Given the description of an element on the screen output the (x, y) to click on. 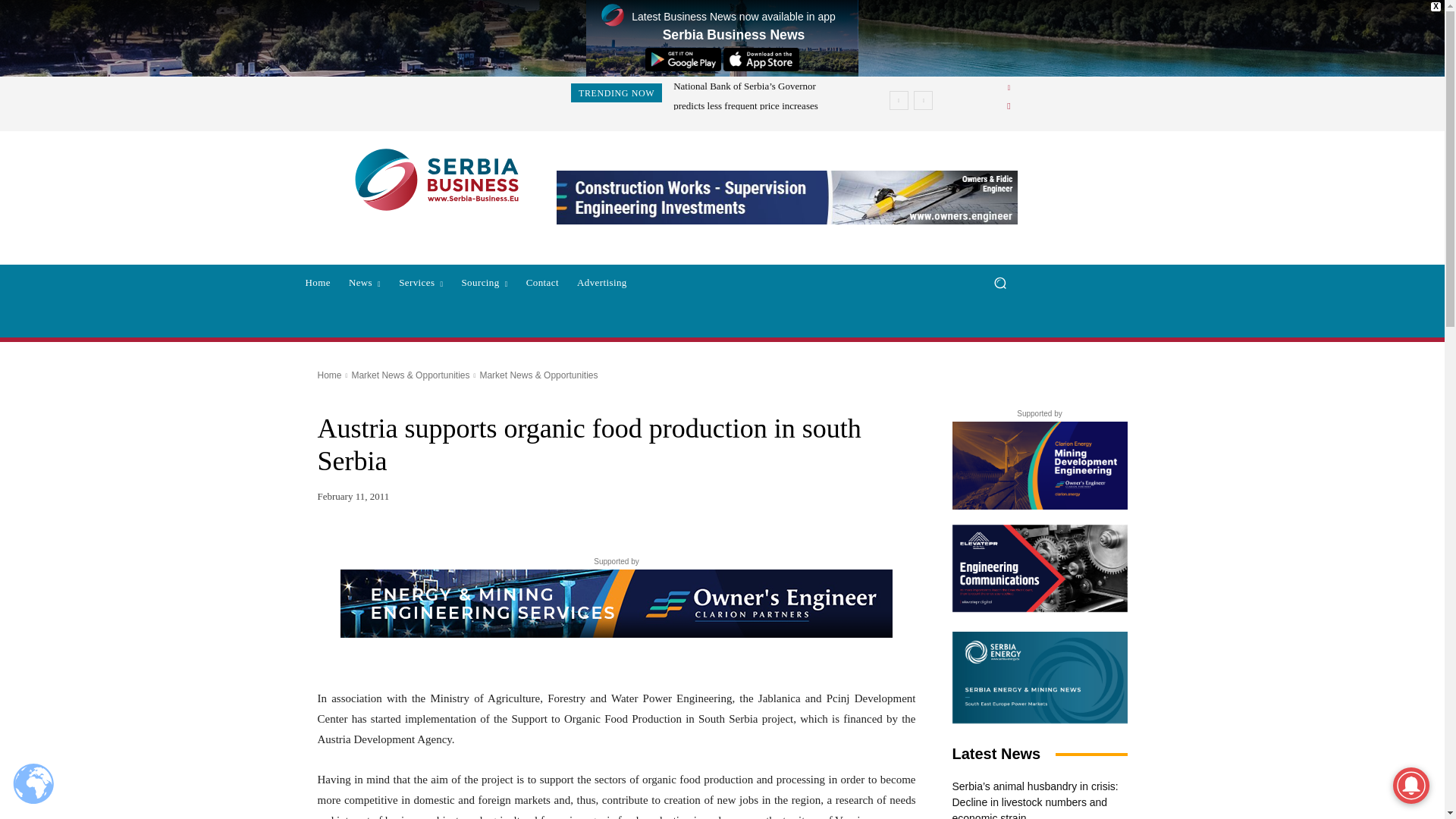
Advertising (601, 282)
Sourcing (483, 282)
Services (420, 282)
News (364, 282)
Twitter (1007, 106)
Home (317, 282)
Contact (541, 282)
Linkedin (1007, 87)
